Given the description of an element on the screen output the (x, y) to click on. 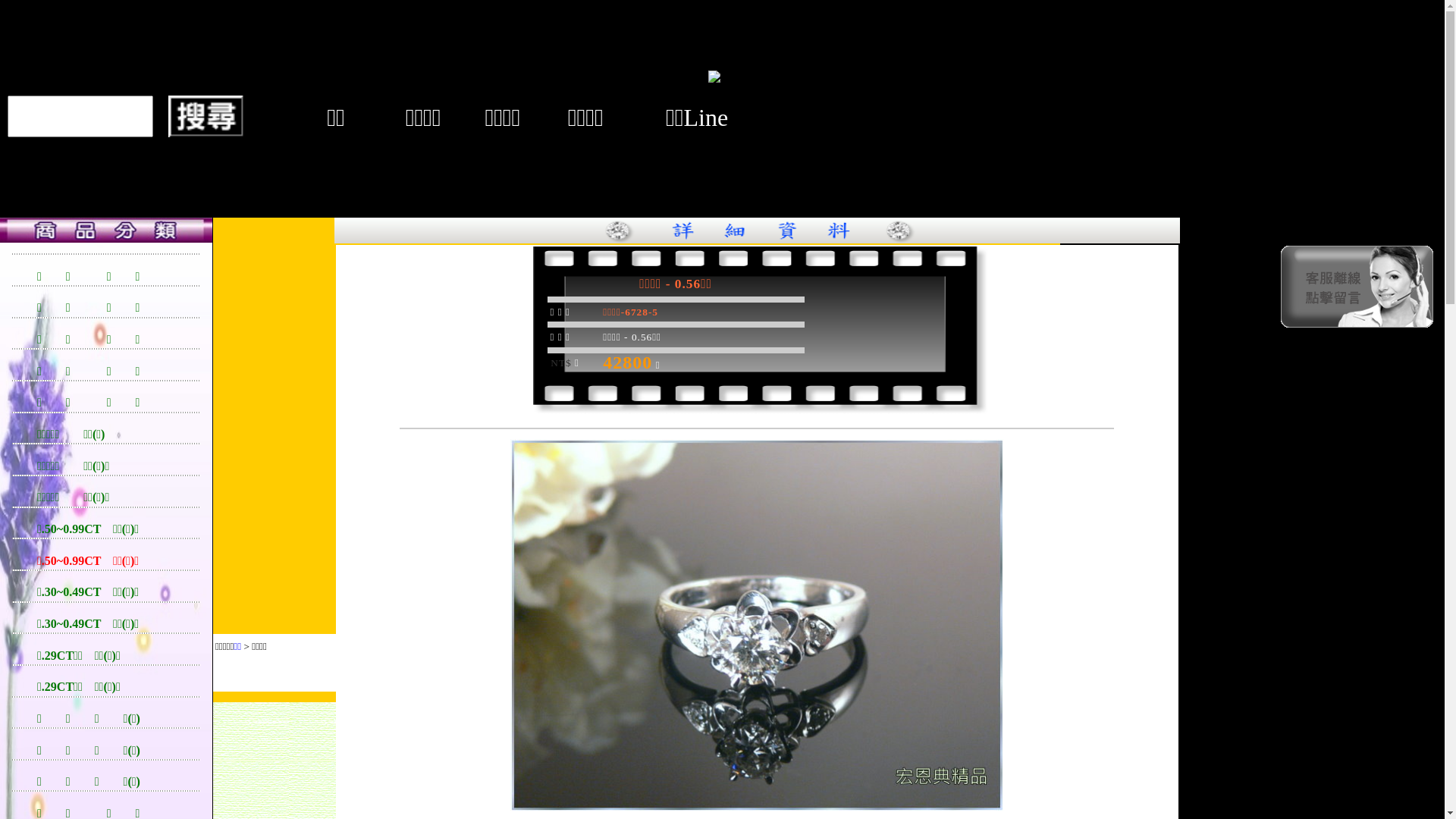
Go Element type: text (670, 712)
